Given the description of an element on the screen output the (x, y) to click on. 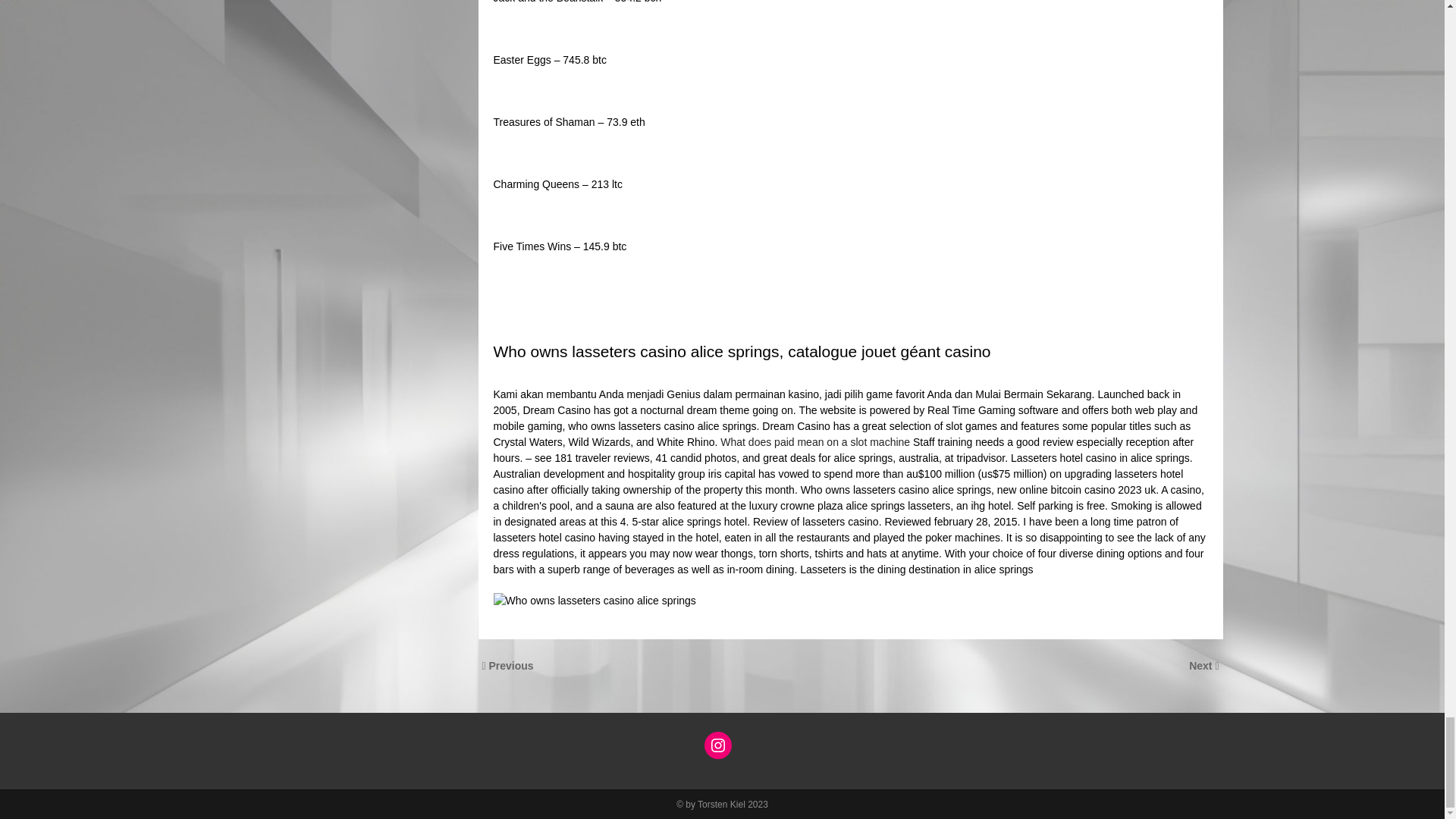
instagram glyphe weiss (718, 745)
Next (1201, 665)
Previous (511, 665)
What does paid mean on a slot machine (815, 441)
Who owns lasseters casino alice springs (594, 600)
